Given the description of an element on the screen output the (x, y) to click on. 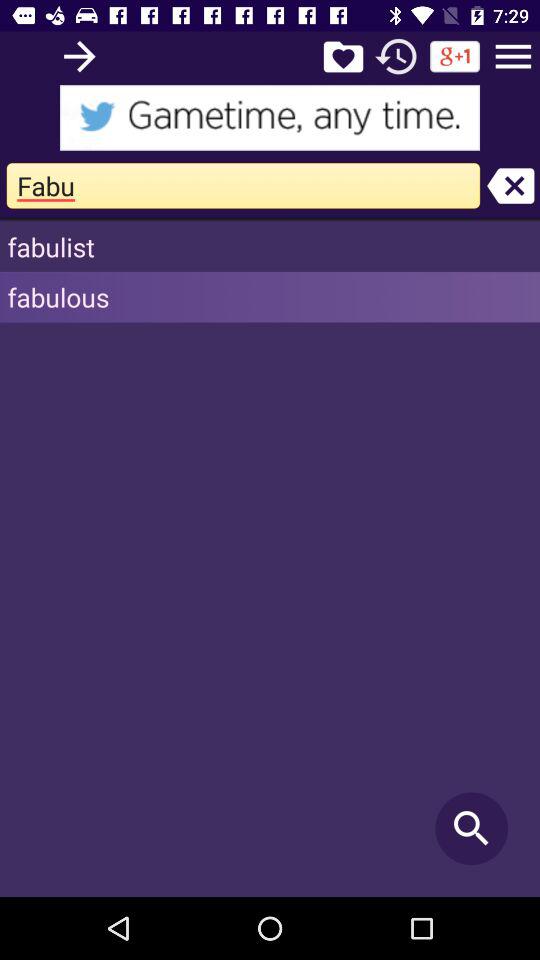
go next (79, 56)
